Given the description of an element on the screen output the (x, y) to click on. 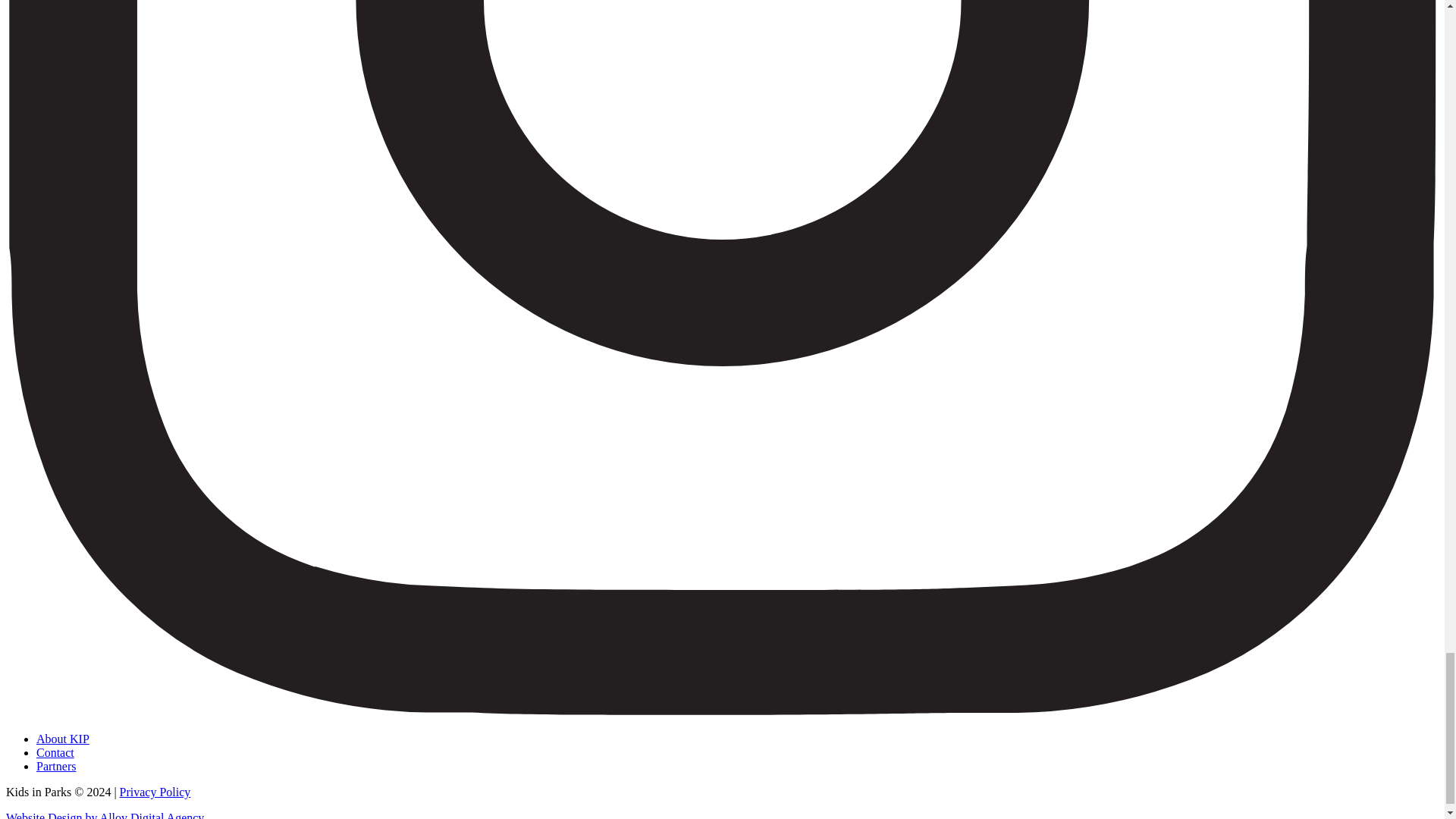
Partners (55, 766)
About KIP (62, 738)
Contact (55, 752)
Privacy Policy (154, 791)
